Given the description of an element on the screen output the (x, y) to click on. 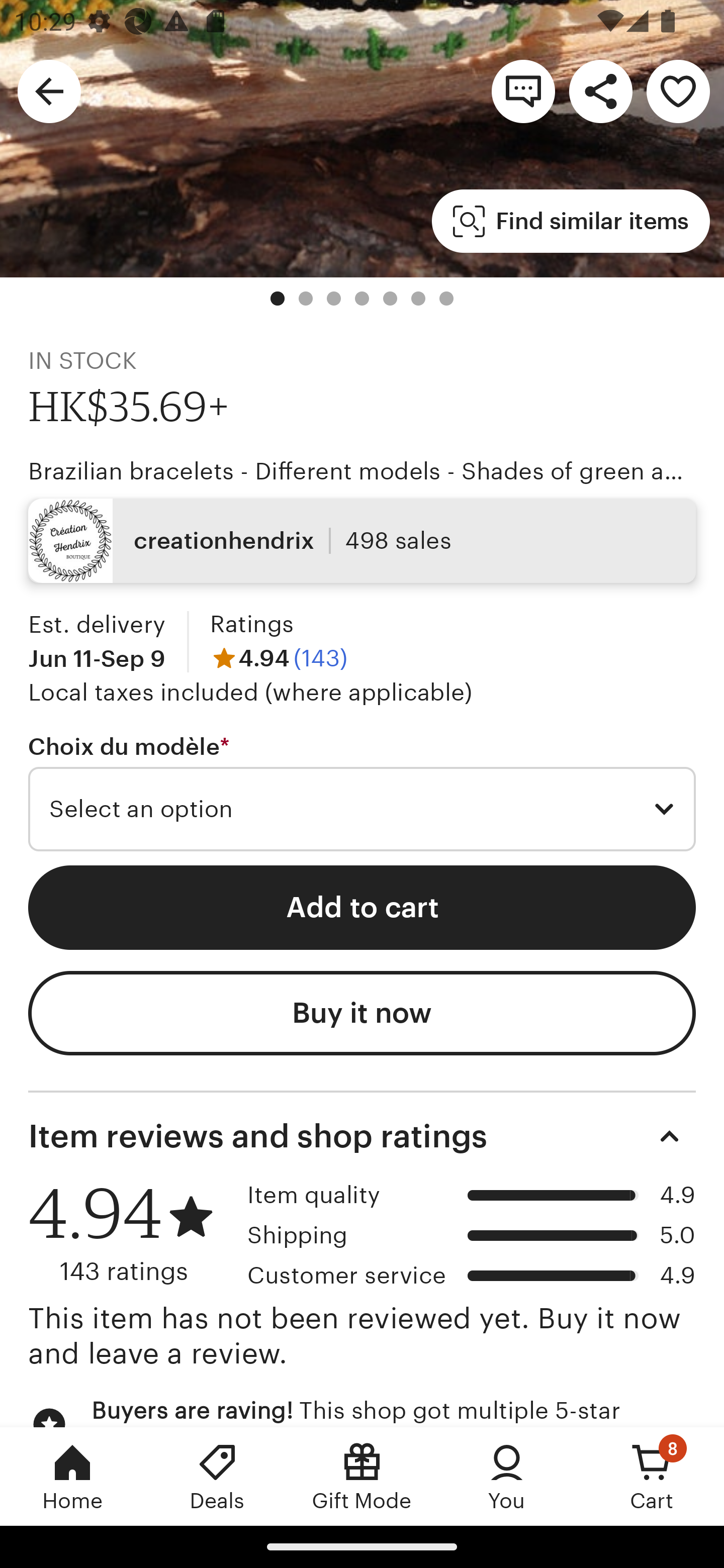
Navigate up (49, 90)
Contact shop (523, 90)
Share (600, 90)
Find similar items (571, 220)
creationhendrix 498 sales (361, 540)
Ratings (251, 623)
4.94 (143) (278, 658)
Choix du modèle * Required Select an option (361, 792)
Select an option (361, 808)
Add to cart (361, 907)
Buy it now (361, 1012)
Item reviews and shop ratings (362, 1136)
4.94 143 ratings (130, 1233)
Deals (216, 1475)
Gift Mode (361, 1475)
You (506, 1475)
Cart, 8 new notifications Cart (651, 1475)
